Given the description of an element on the screen output the (x, y) to click on. 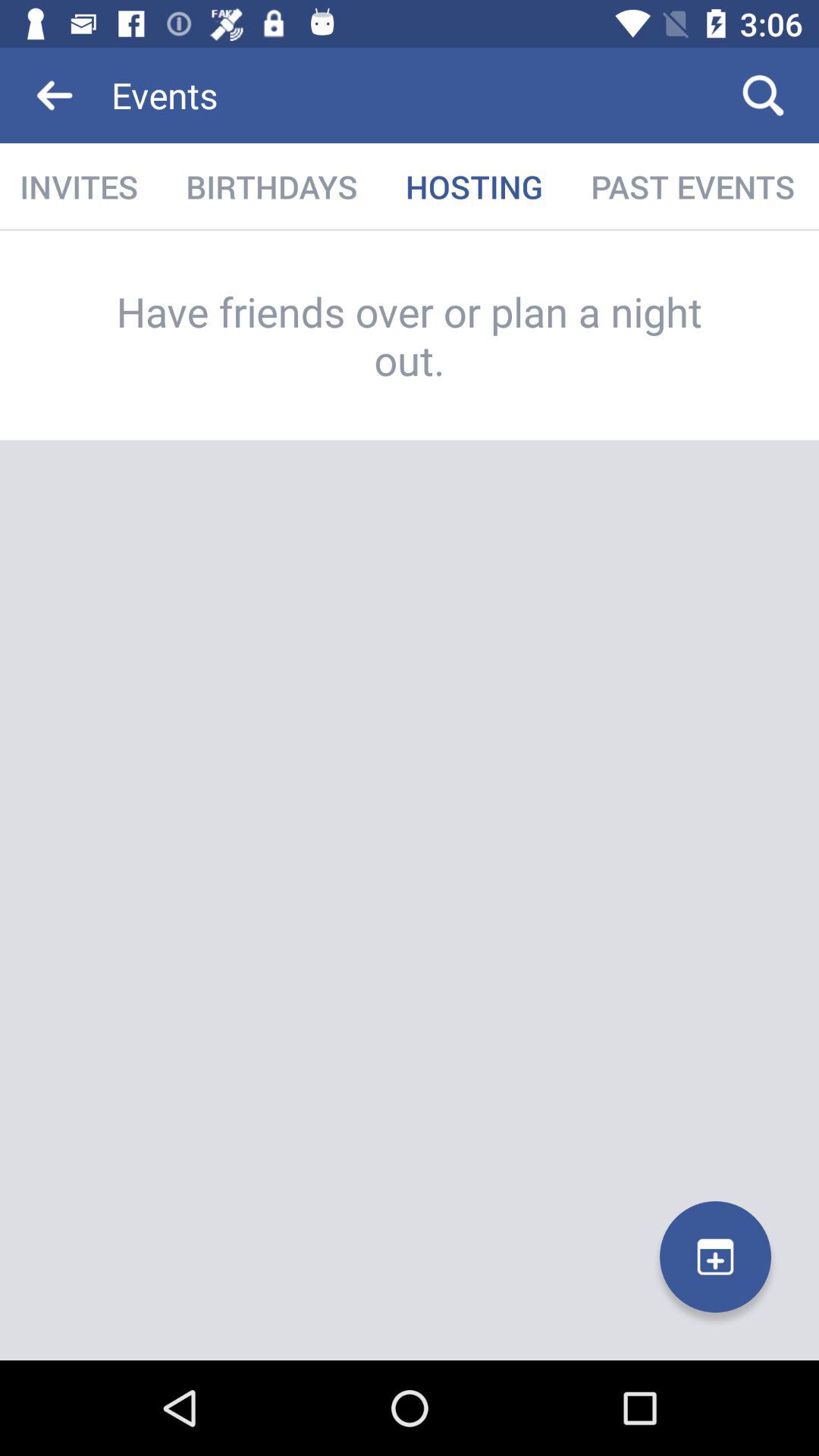
launch item below events item (474, 186)
